Given the description of an element on the screen output the (x, y) to click on. 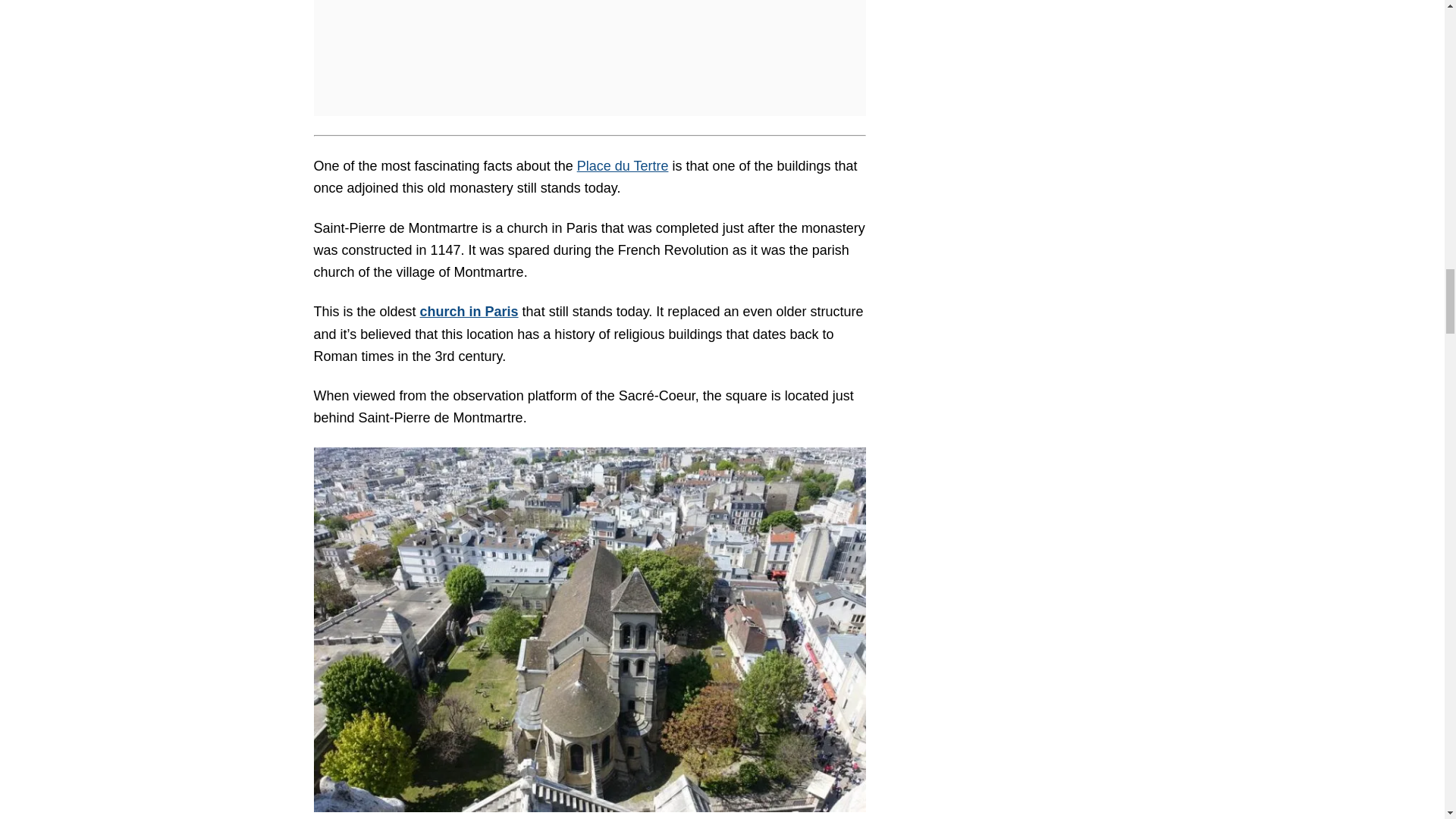
Place du Tertre (622, 165)
church in Paris (469, 311)
